Given the description of an element on the screen output the (x, y) to click on. 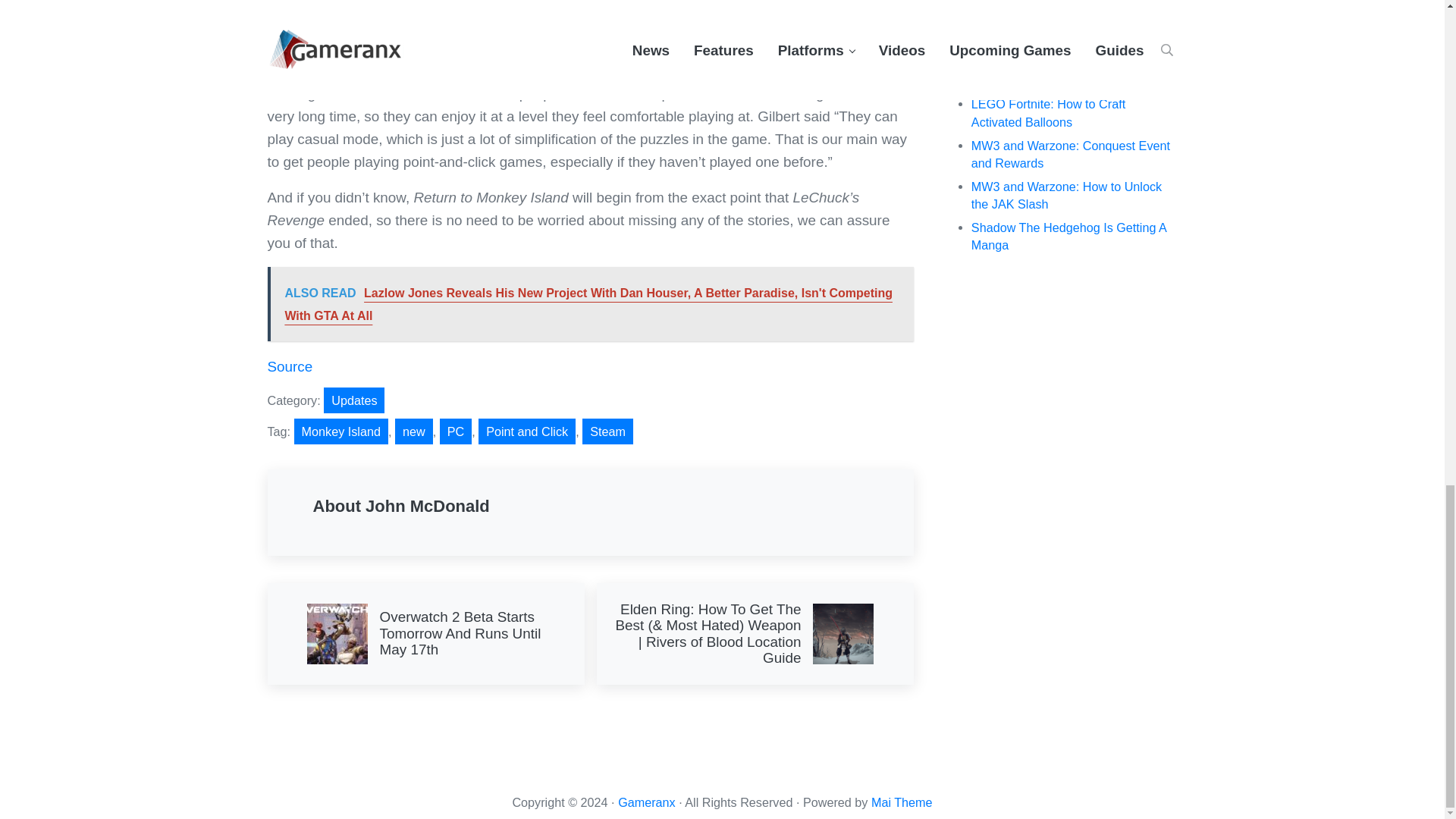
Point and Click (527, 431)
Steam (607, 431)
Updates (353, 400)
PC (455, 431)
new (413, 431)
Source (289, 366)
Monkey Island (341, 431)
